Given the description of an element on the screen output the (x, y) to click on. 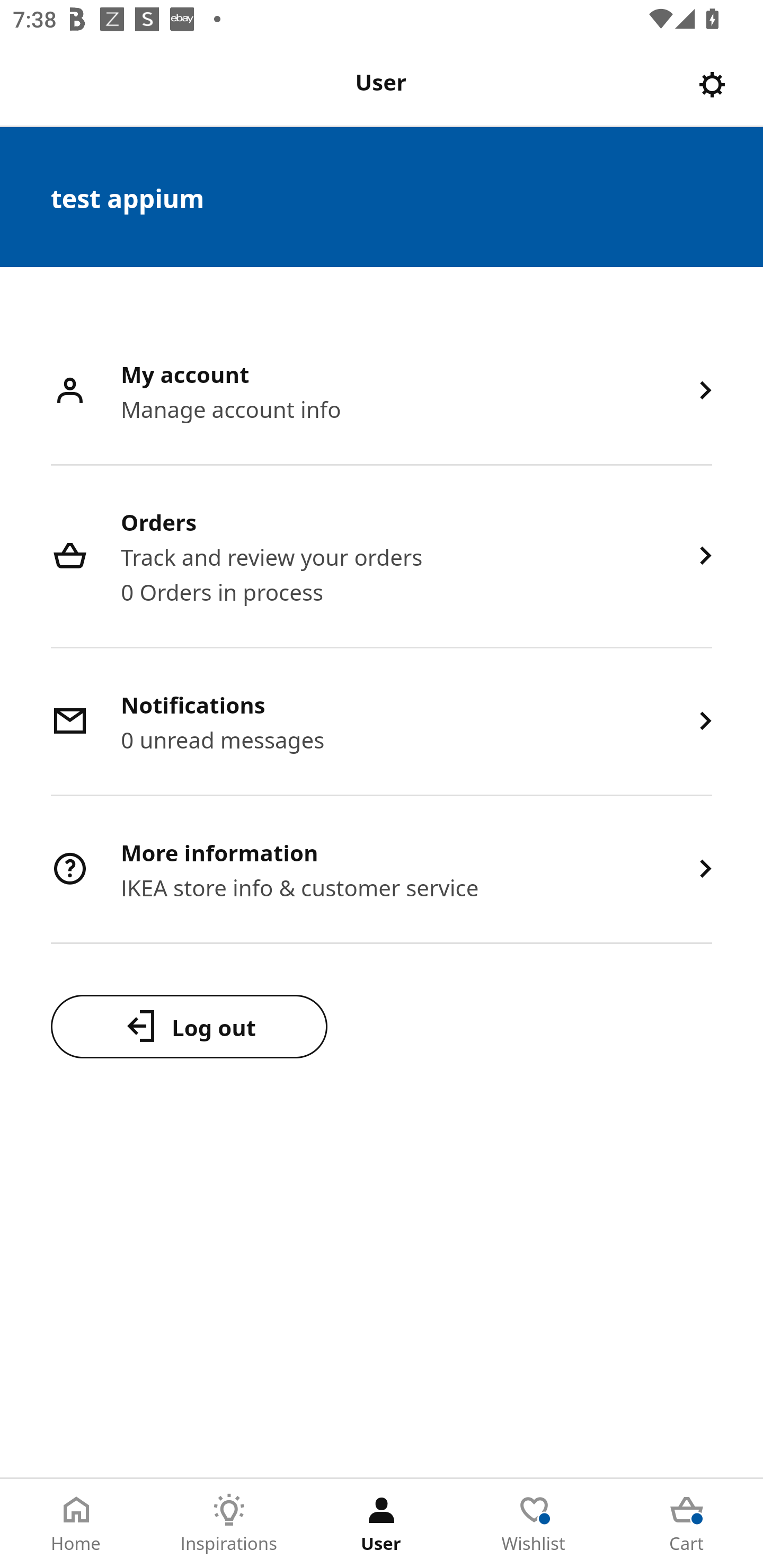
My account
Manage account info (381, 391)
Notifications
0 unread messages (381, 722)
Log out (189, 1026)
Home
Tab 1 of 5 (76, 1522)
Inspirations
Tab 2 of 5 (228, 1522)
User
Tab 3 of 5 (381, 1522)
Wishlist
Tab 4 of 5 (533, 1522)
Cart
Tab 5 of 5 (686, 1522)
